Given the description of an element on the screen output the (x, y) to click on. 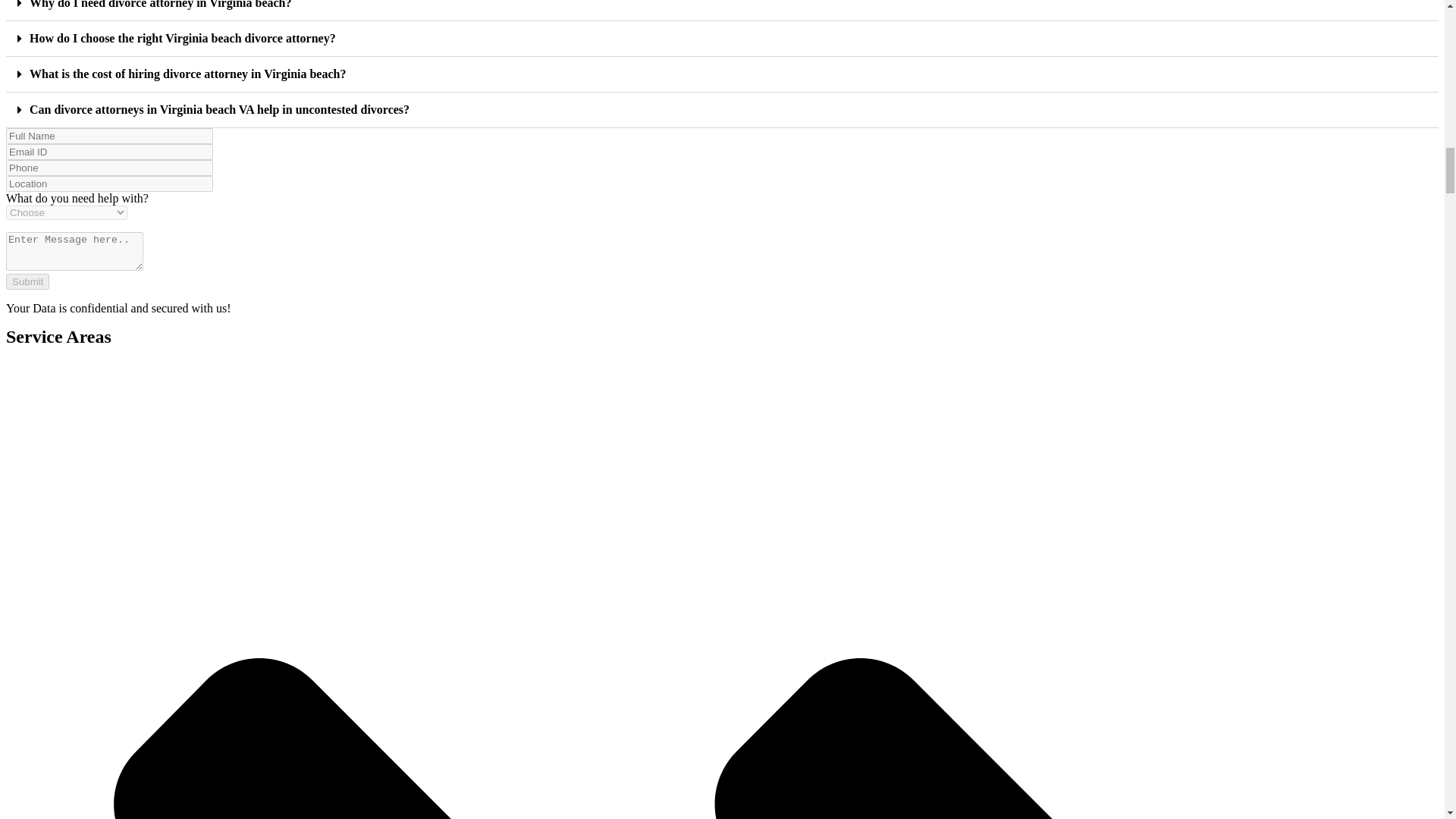
How do I choose the right Virginia beach divorce attorney? (182, 38)
Submit (27, 281)
Submit (27, 281)
Why do I need divorce attorney in Virginia beach? (160, 4)
